Given the description of an element on the screen output the (x, y) to click on. 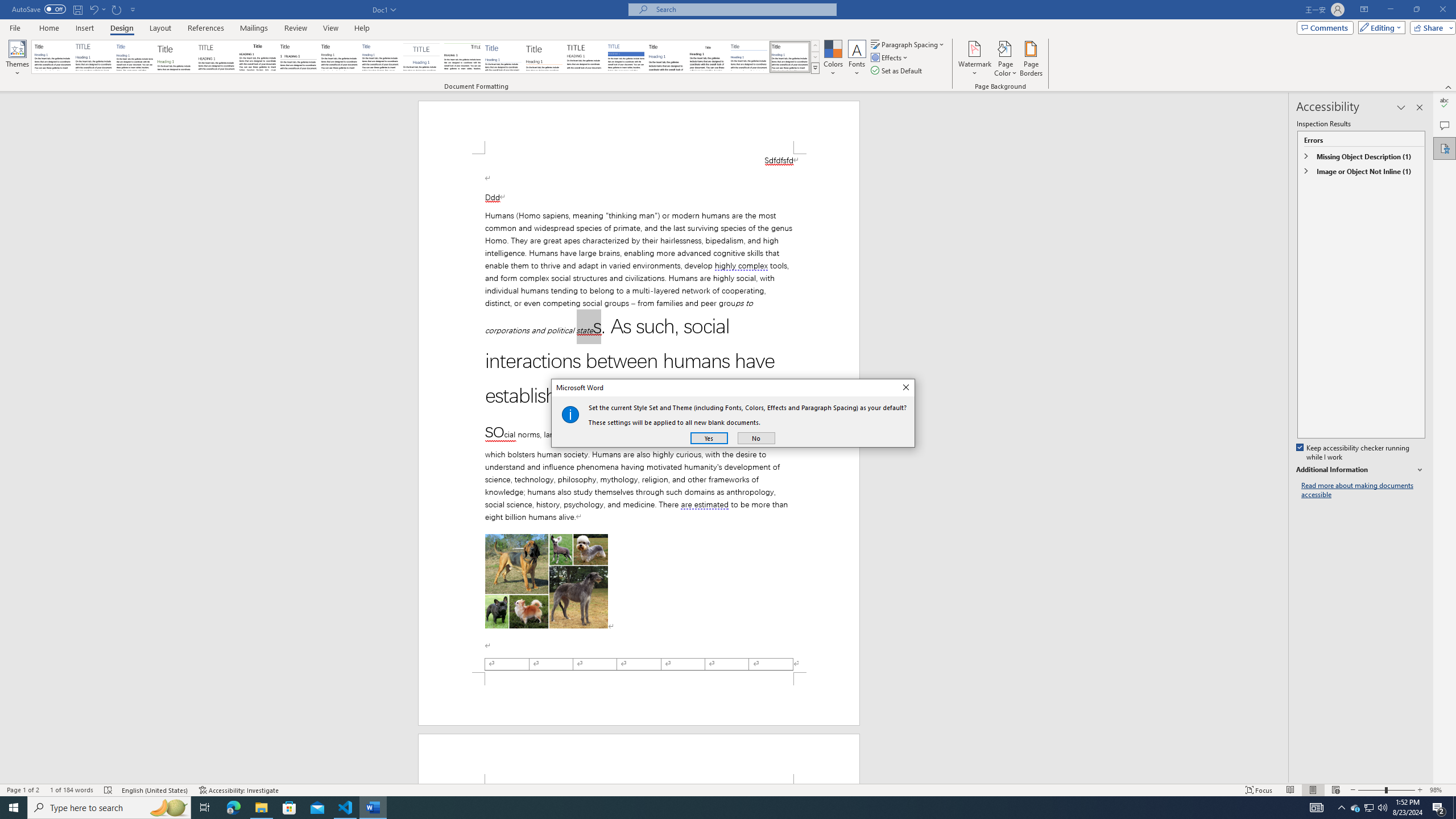
Action Center, 2 new notifications (1439, 807)
AutomationID: 4105 (1316, 807)
Black & White (Classic) (1368, 807)
Accessibility (257, 56)
Undo Apply Quick Style Set (1444, 147)
